Given the description of an element on the screen output the (x, y) to click on. 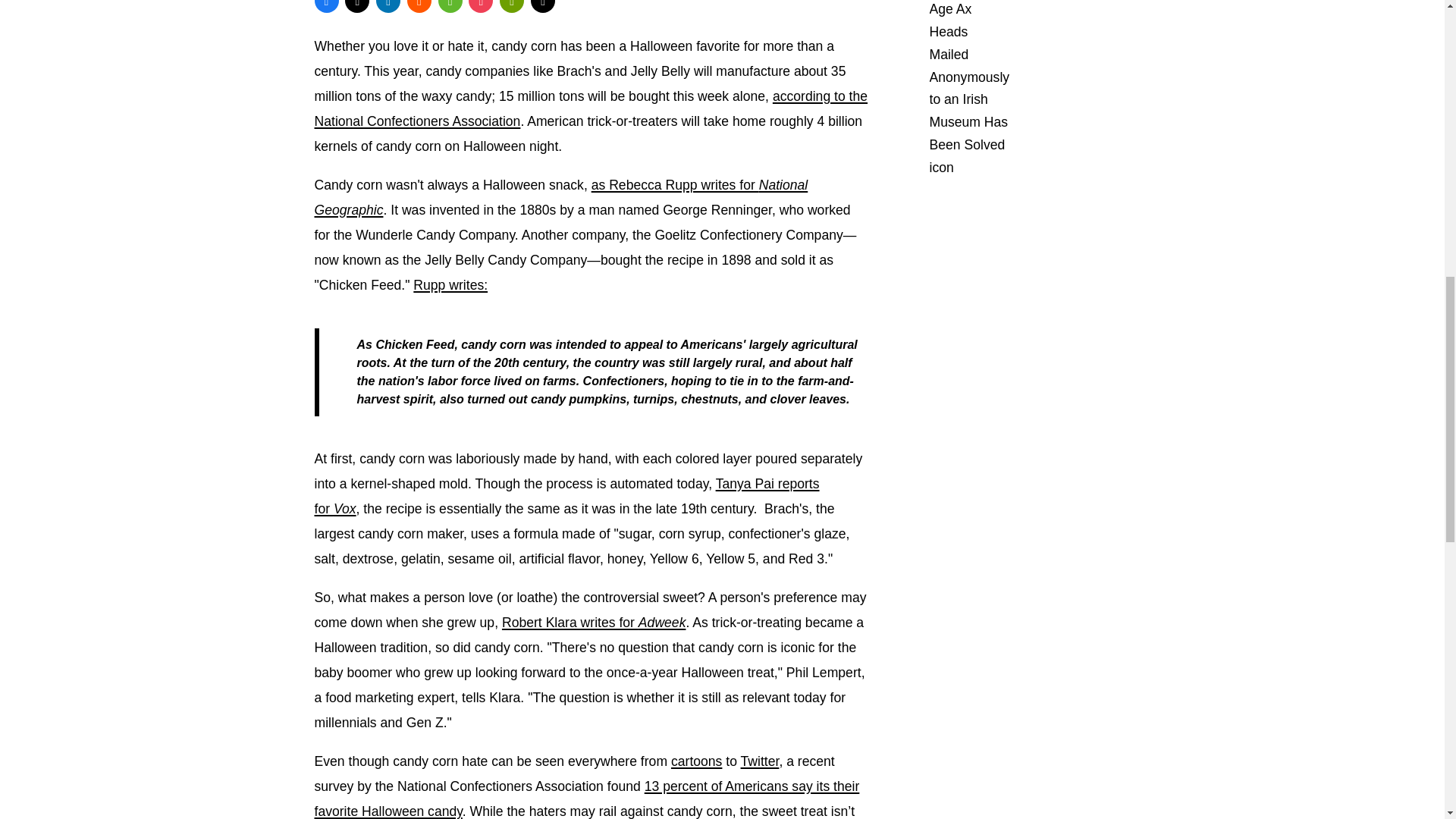
Email (542, 6)
Pocket (480, 6)
Reddit (418, 6)
LinkedIn (387, 6)
Print (511, 6)
Facebook (325, 6)
Twitter (357, 6)
WhatsApp (450, 6)
